Given the description of an element on the screen output the (x, y) to click on. 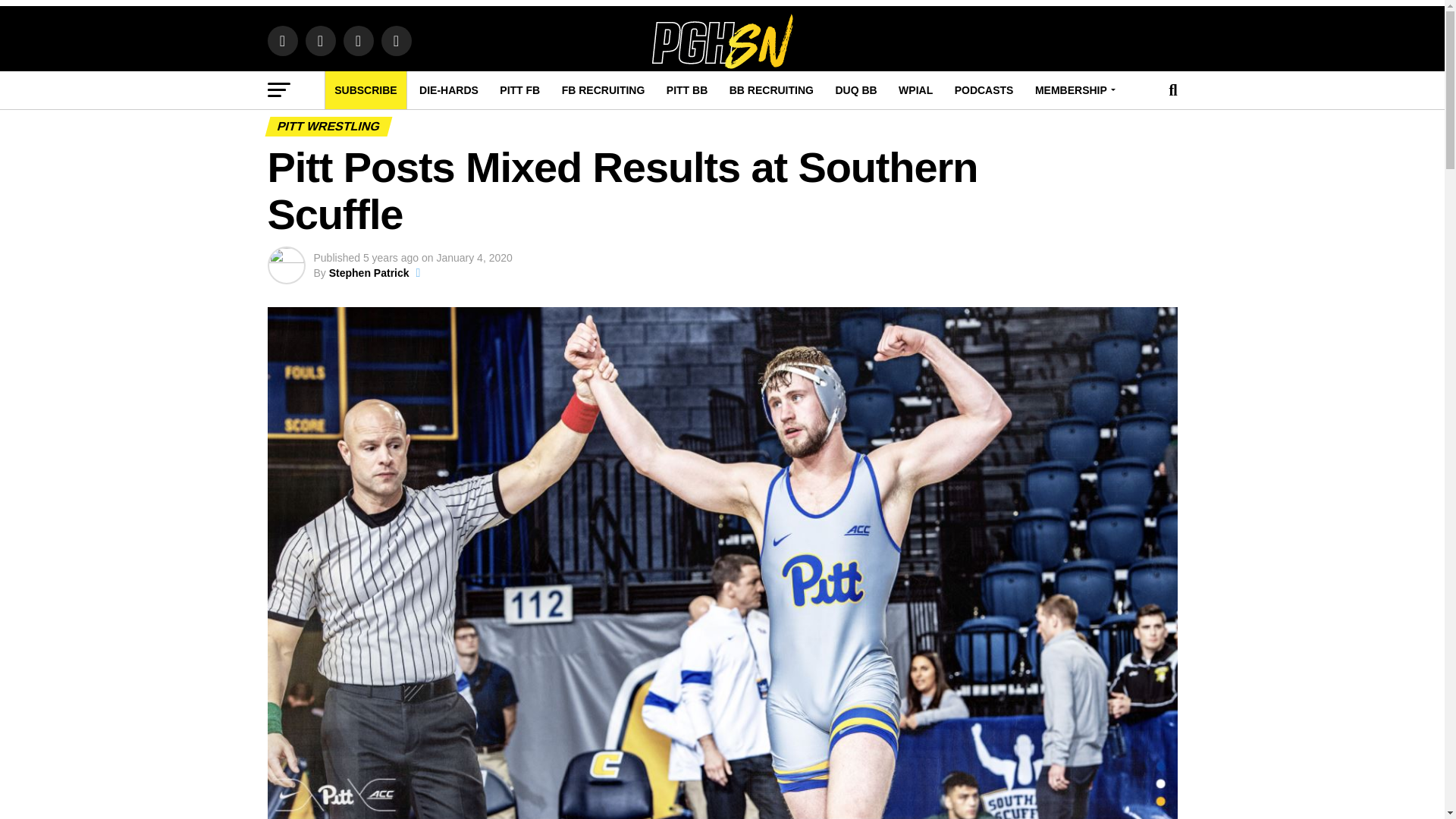
Posts by Stephen Patrick (369, 272)
